Given the description of an element on the screen output the (x, y) to click on. 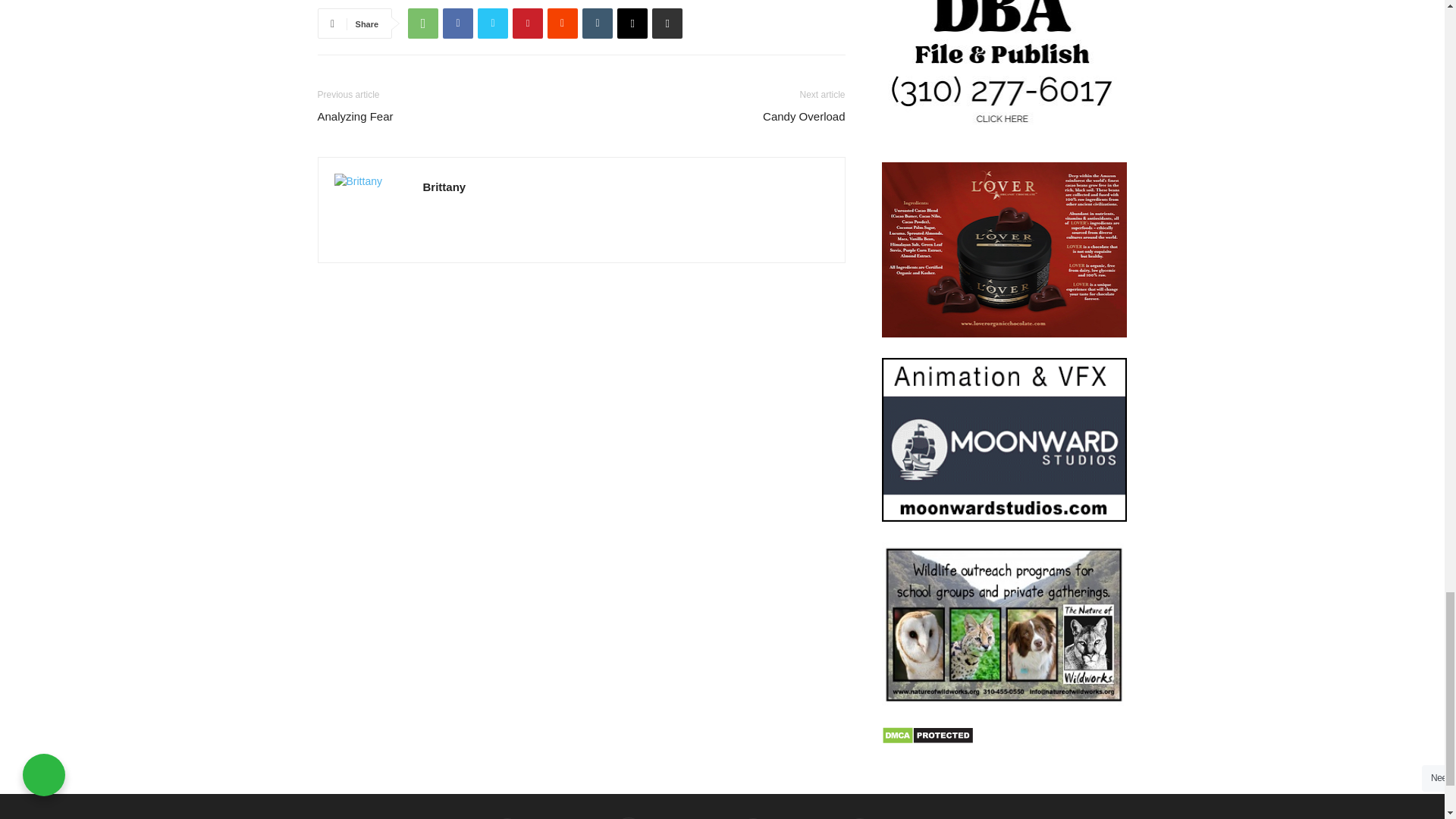
WhatsApp (422, 23)
